Given the description of an element on the screen output the (x, y) to click on. 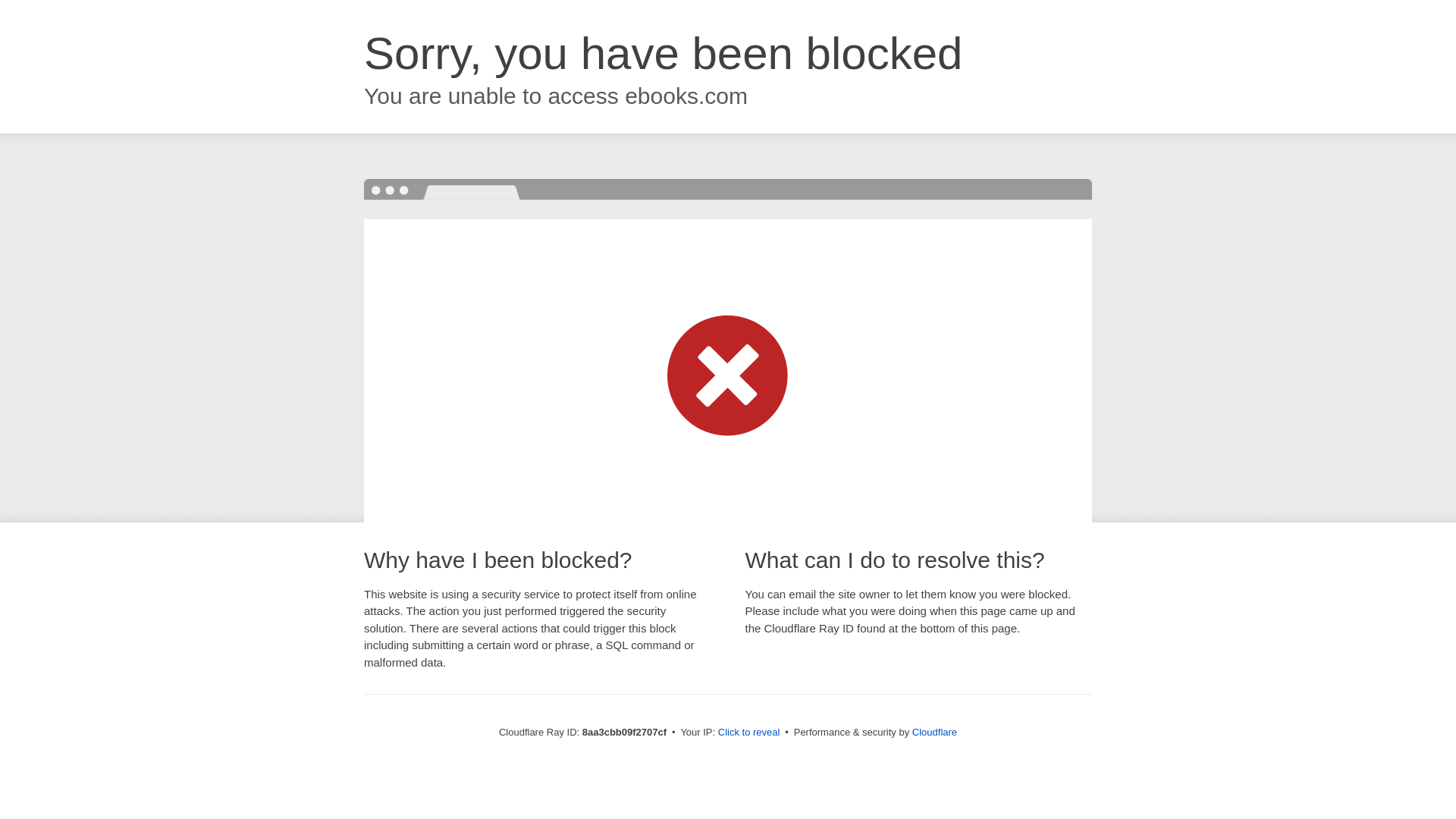
Cloudflare (934, 731)
Click to reveal (748, 732)
